Given the description of an element on the screen output the (x, y) to click on. 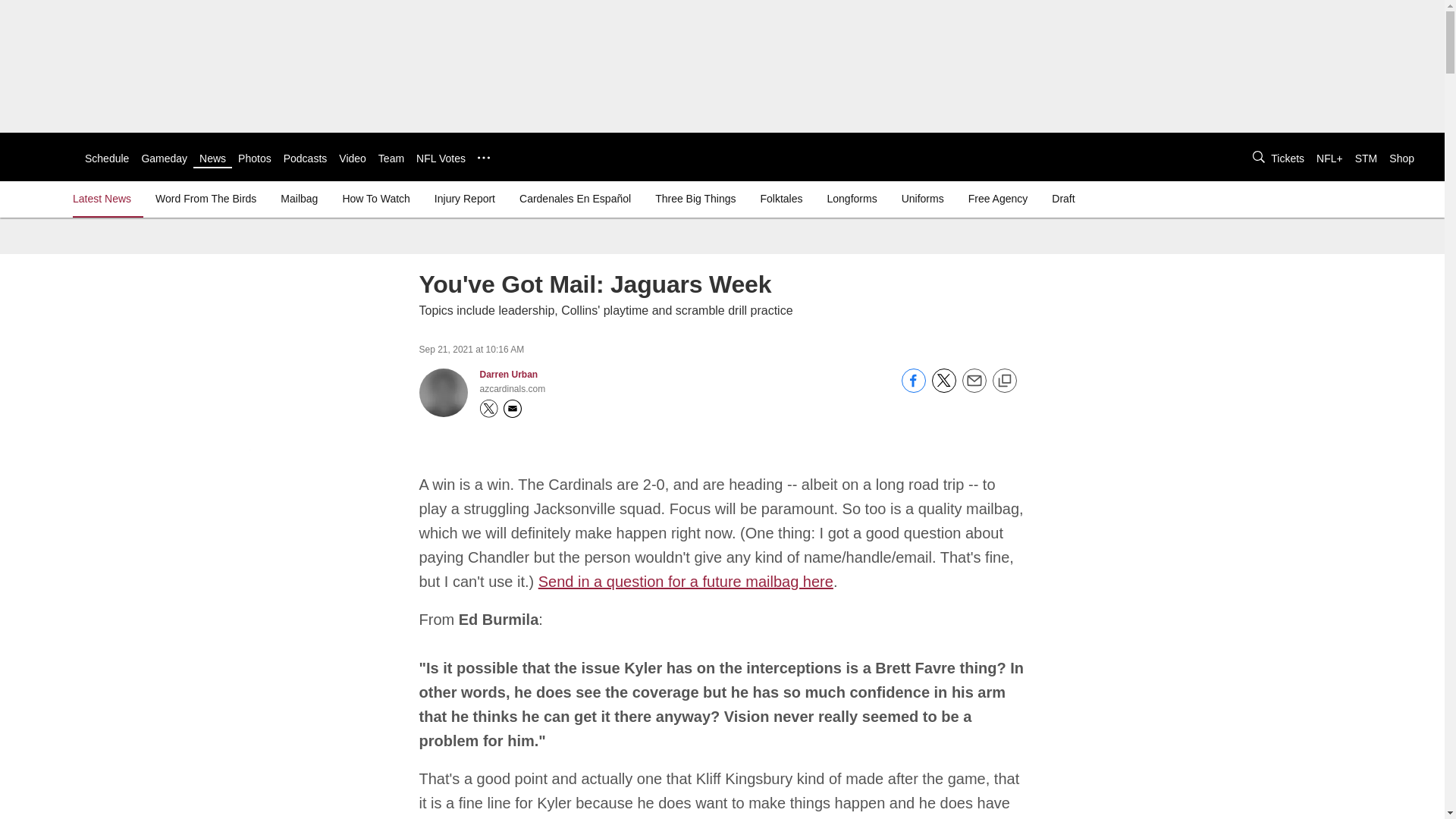
Team (391, 158)
Link to club's homepage (42, 156)
News (212, 158)
Schedule (106, 158)
NFL Votes (440, 158)
Gameday (164, 158)
Photos (254, 158)
Tickets (1287, 158)
Longforms (852, 198)
Mailbag (299, 198)
